Given the description of an element on the screen output the (x, y) to click on. 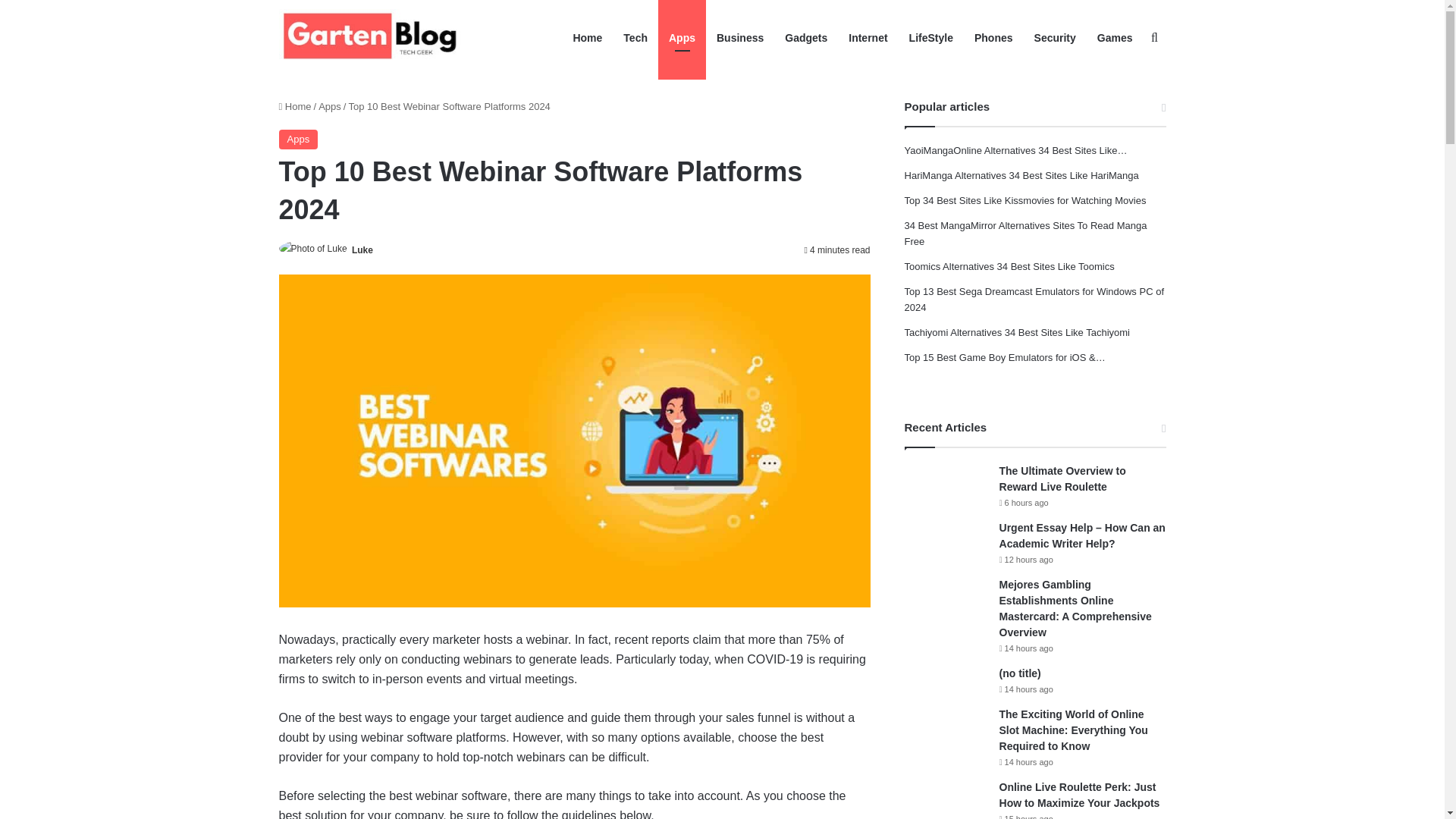
Luke (362, 249)
Apps (298, 139)
Luke (362, 249)
Home (295, 106)
Apps (329, 106)
Garten Blog - Your Tech Companion (373, 38)
Business (740, 38)
